Given the description of an element on the screen output the (x, y) to click on. 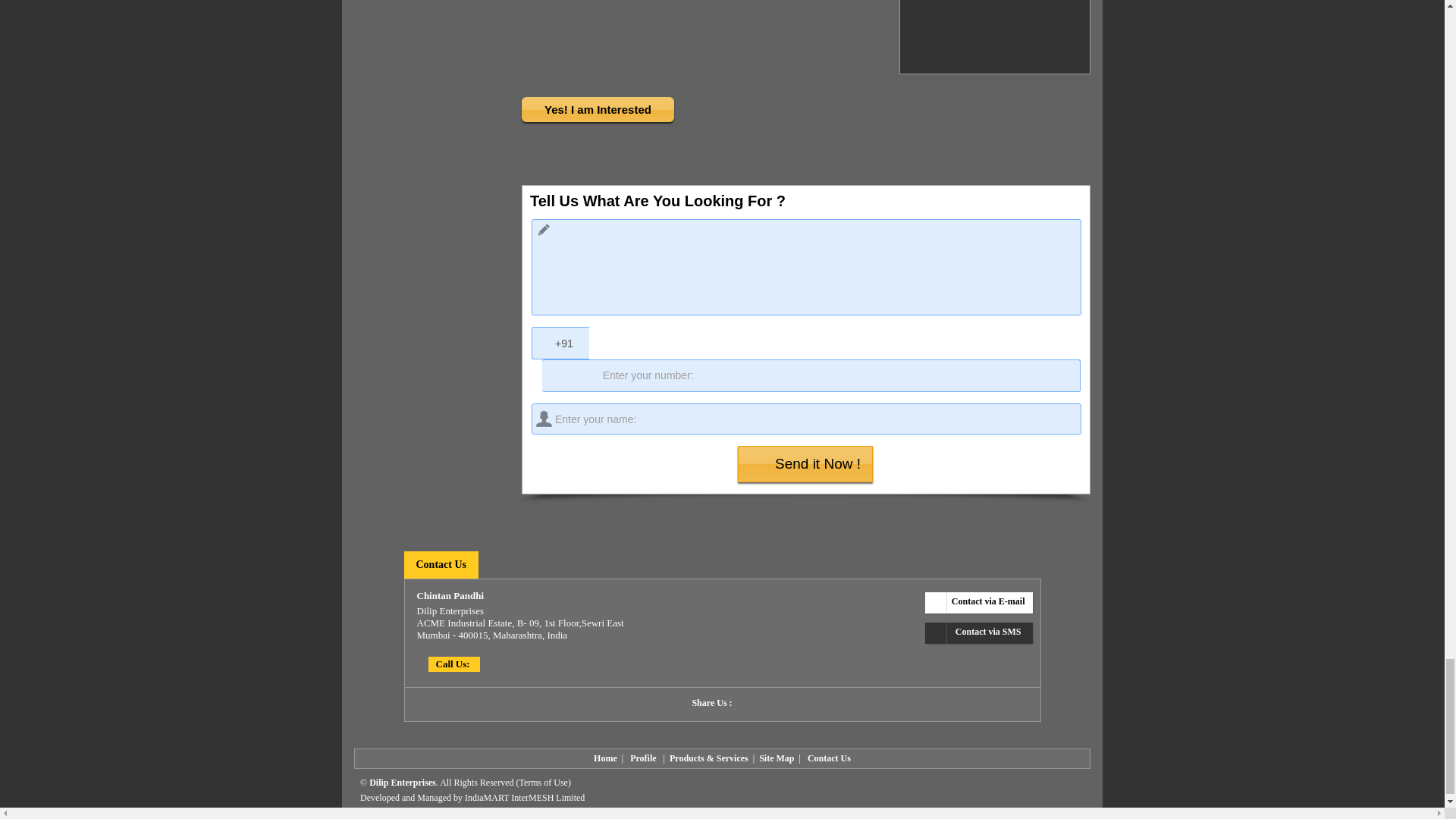
Send it Now ! (805, 463)
Enter your number: (810, 375)
Enter your name: (806, 418)
